Given the description of an element on the screen output the (x, y) to click on. 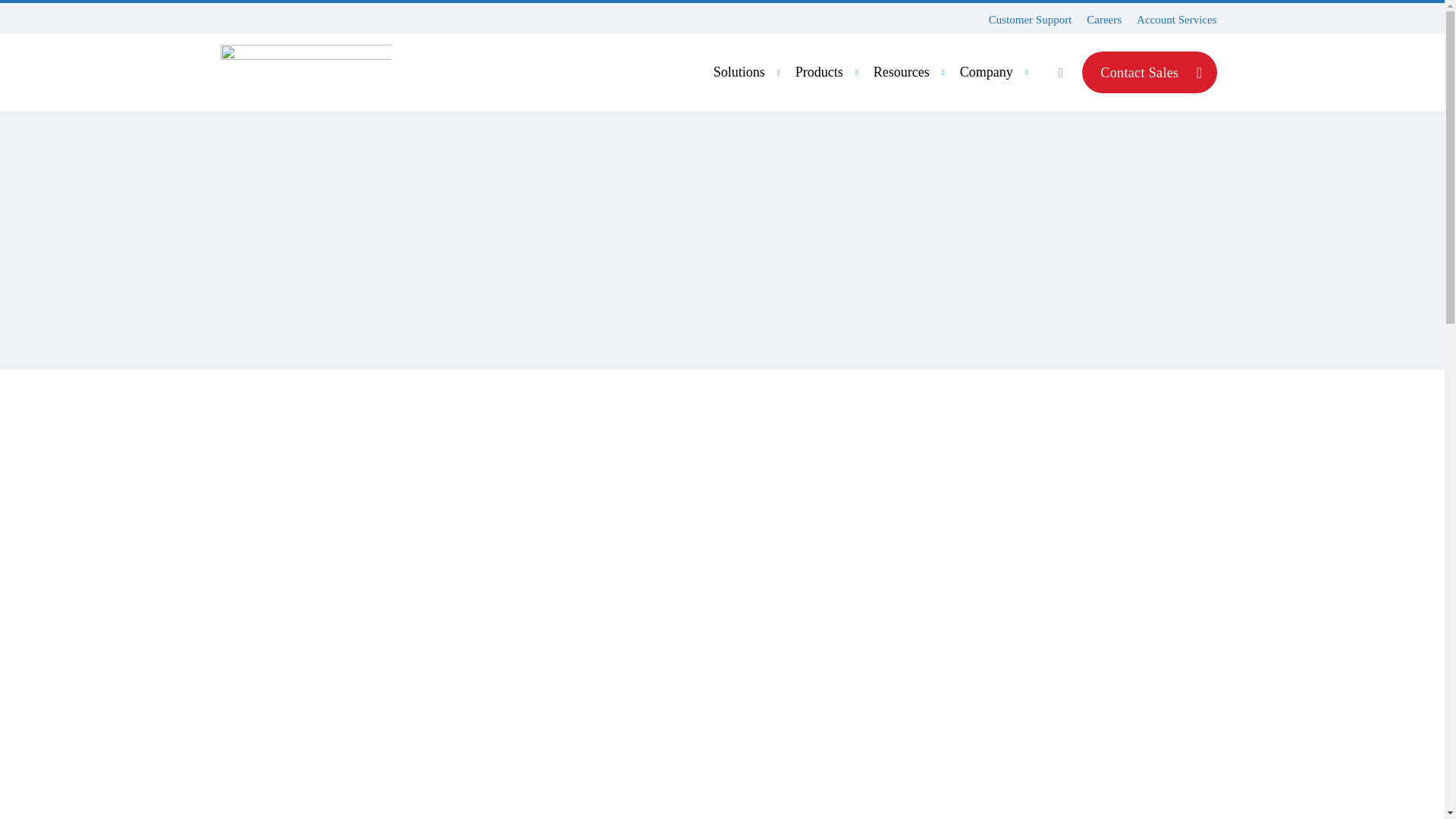
Resources (911, 72)
Solutions (748, 72)
Customer Support (878, 72)
Careers (1029, 19)
Account Services (1103, 19)
Contact Sales (1176, 19)
